Given the description of an element on the screen output the (x, y) to click on. 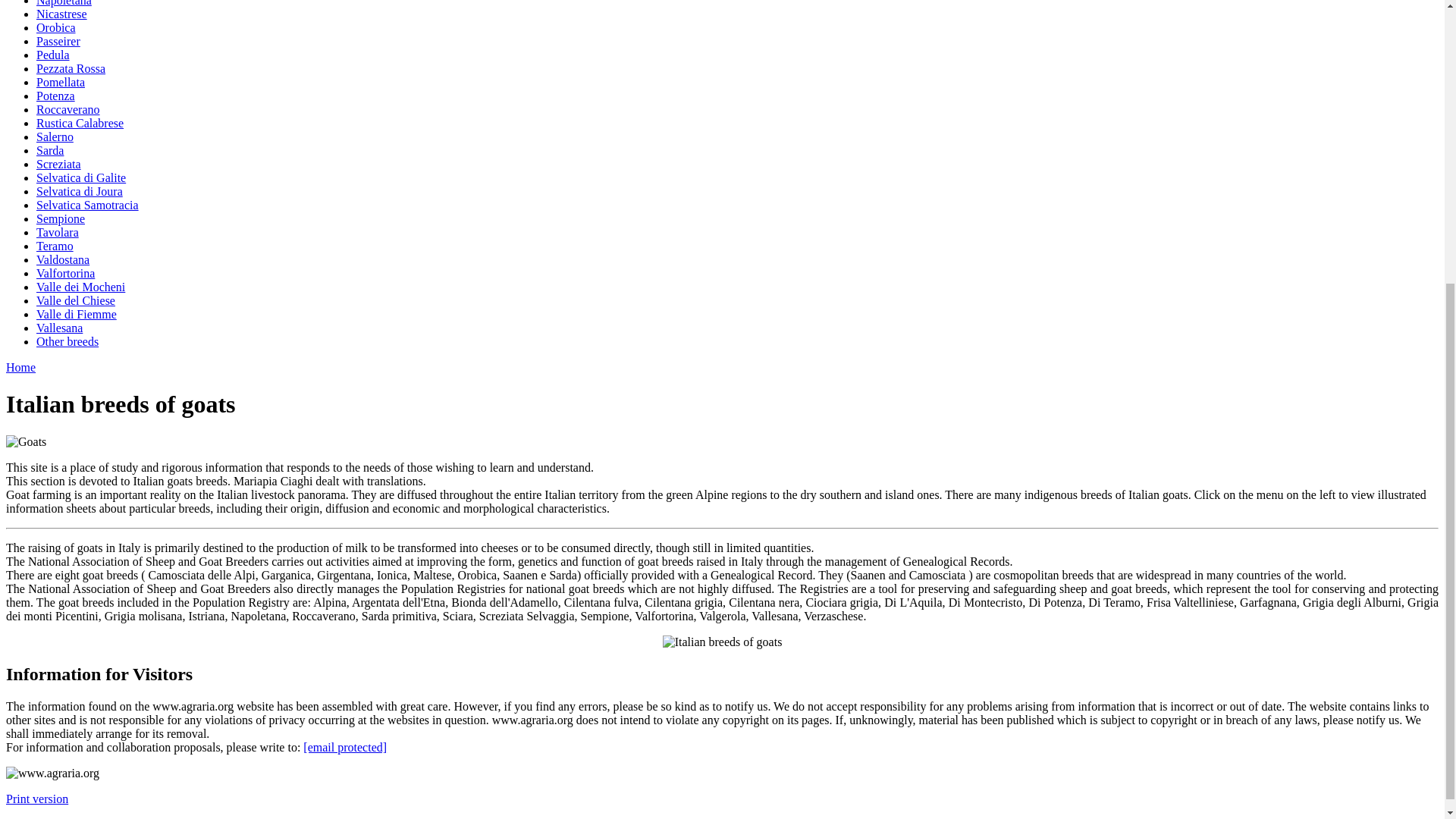
Passeirer (58, 41)
Nicastrese (61, 13)
Napoletana (63, 3)
Orobica (55, 27)
